Given the description of an element on the screen output the (x, y) to click on. 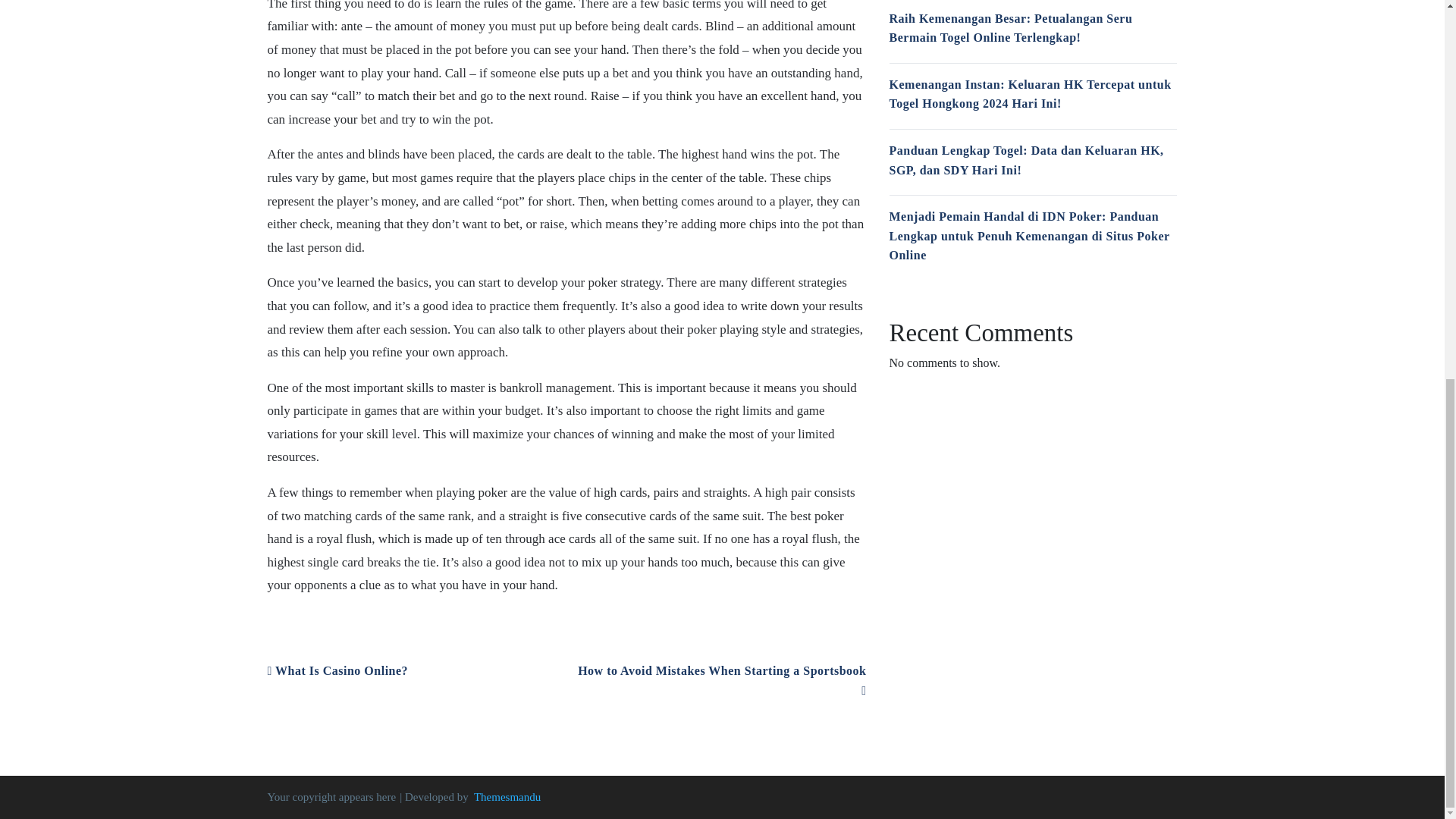
How to Avoid Mistakes When Starting a Sportsbook (722, 680)
Themesmandu (507, 797)
What Is Casino Online? (336, 670)
